Given the description of an element on the screen output the (x, y) to click on. 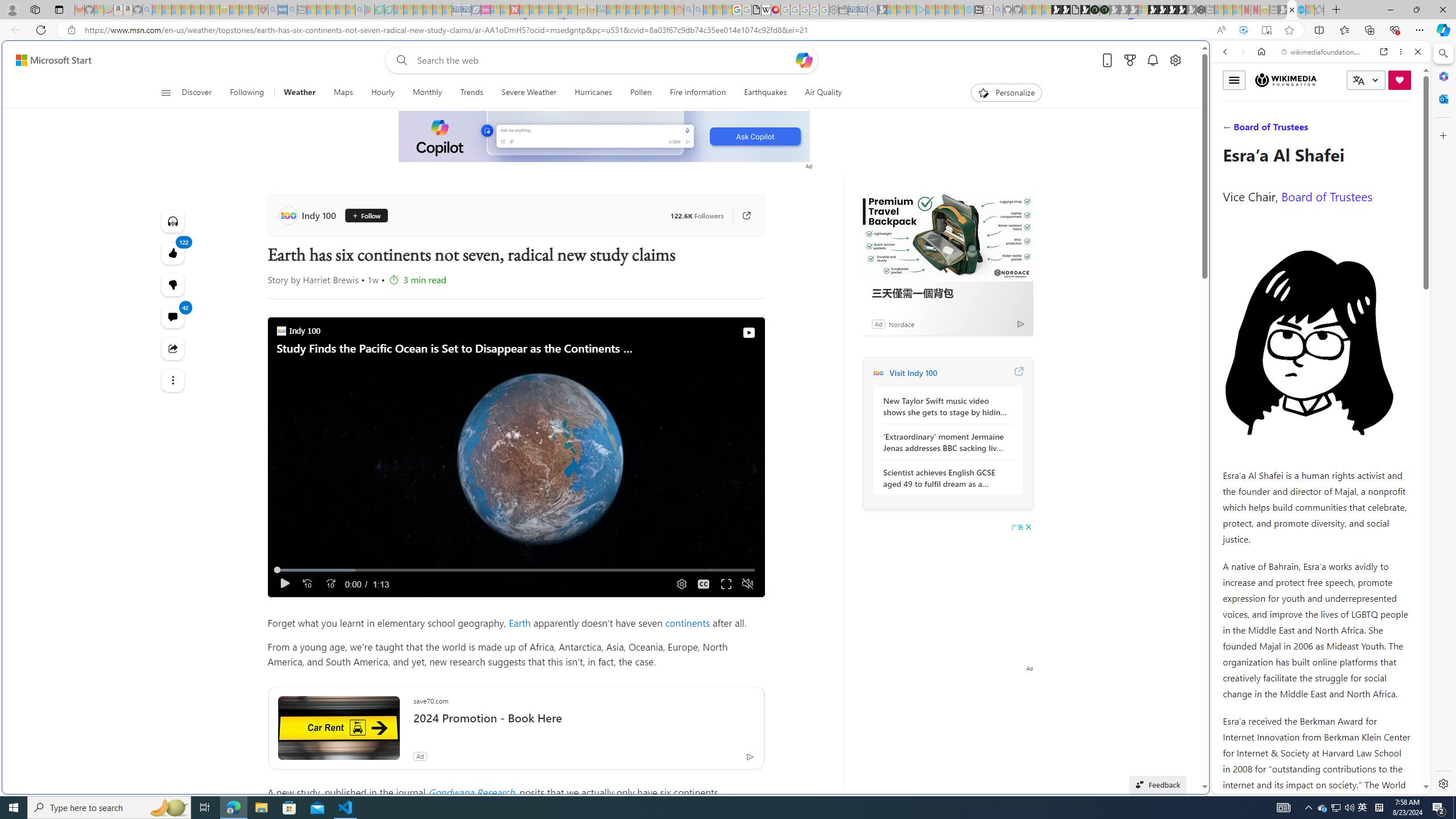
Trends (471, 92)
Progress Bar (516, 569)
Seek Back (306, 583)
Fire information (697, 92)
